Given the description of an element on the screen output the (x, y) to click on. 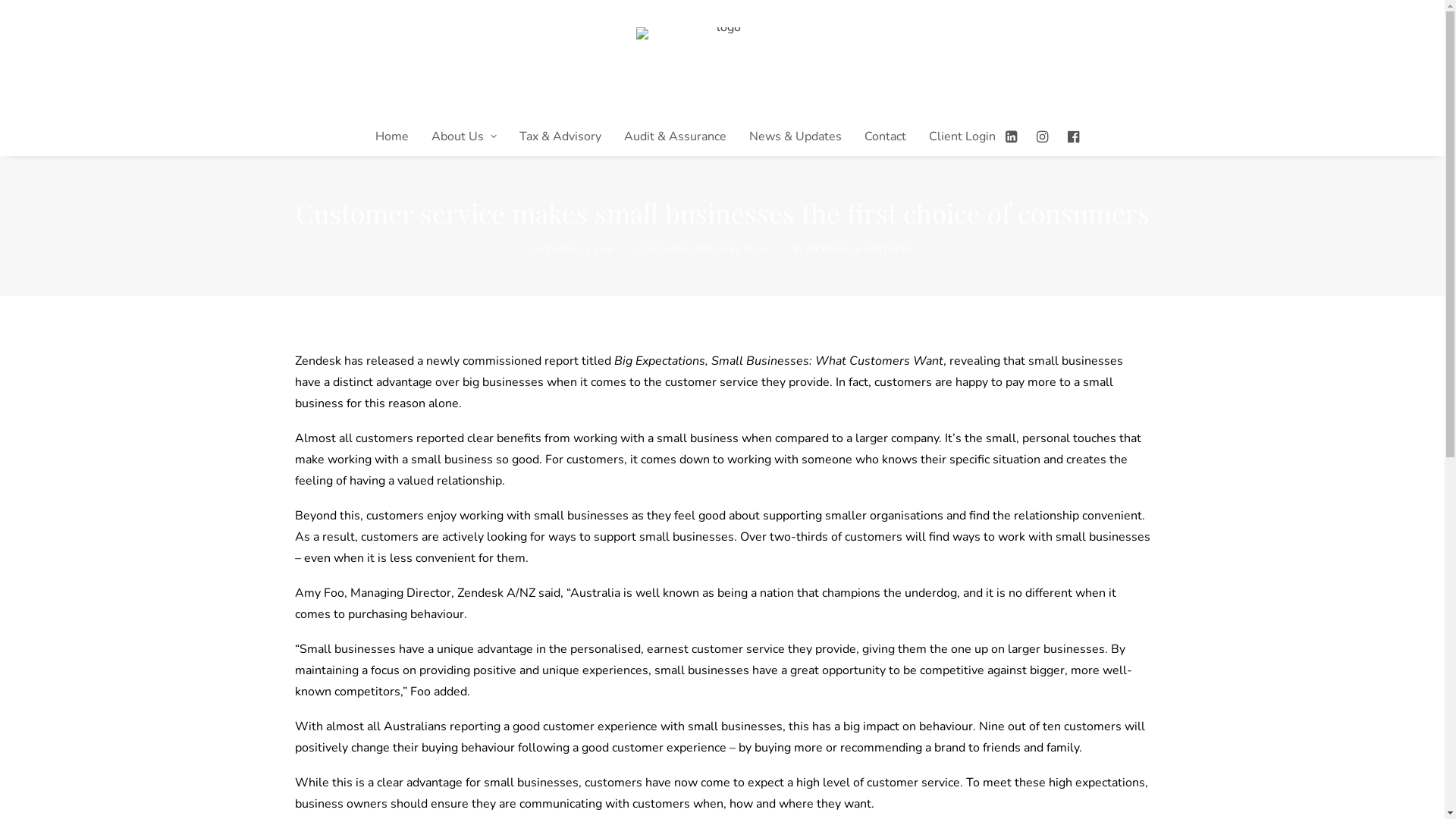
Client Login Element type: text (957, 135)
About Us Element type: text (463, 135)
Tax & Advisory Element type: text (560, 135)
Contact Element type: text (885, 135)
News & Updates Element type: text (795, 135)
MCPHAIL & PARTNERS Element type: text (859, 248)
Audit & Assurance Element type: text (675, 135)
BUSINESS SERVICES BLOG Element type: text (708, 248)
Home Element type: text (391, 135)
